Given the description of an element on the screen output the (x, y) to click on. 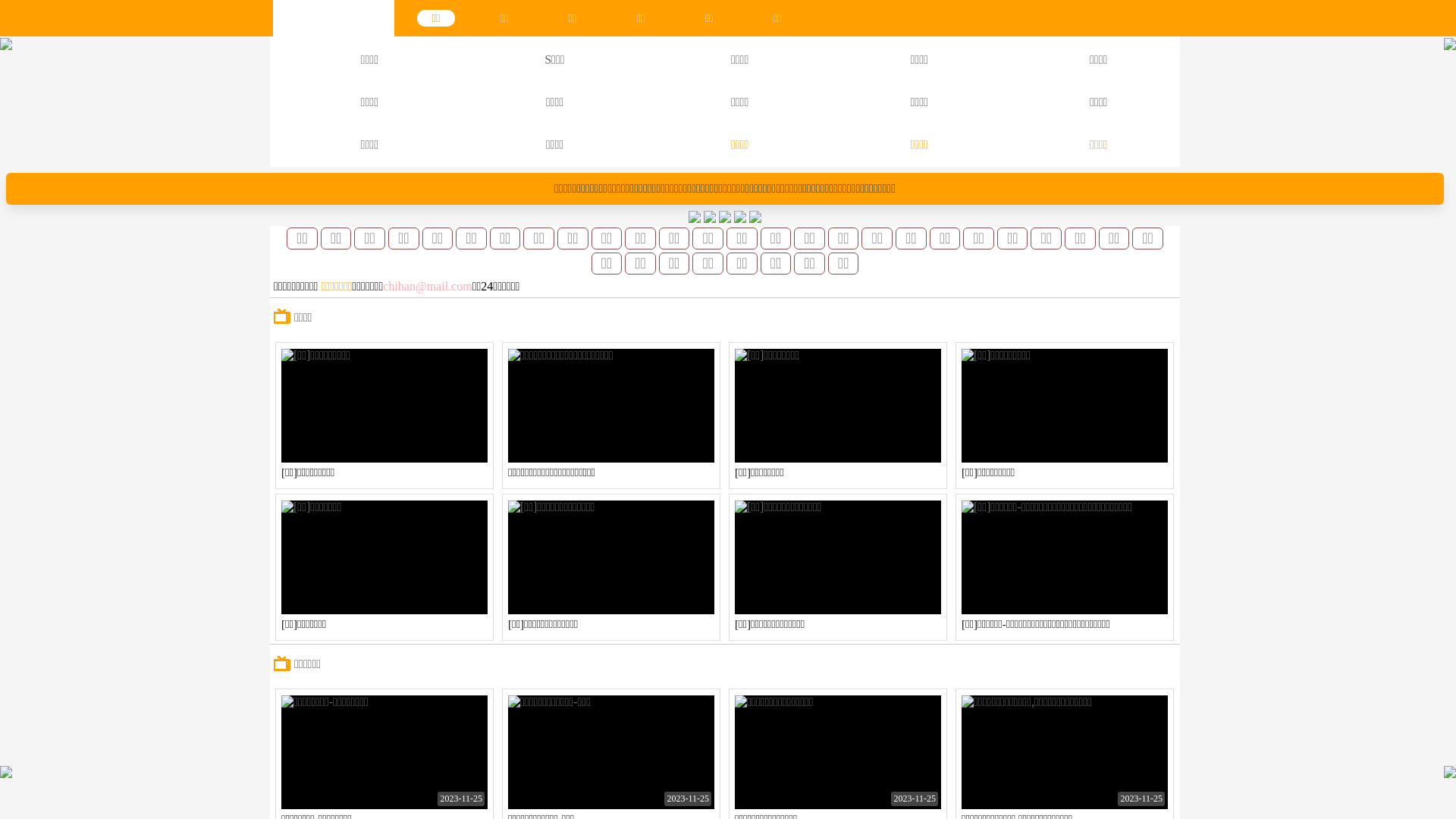
chihan@mail.com Element type: text (426, 285)
